Given the description of an element on the screen output the (x, y) to click on. 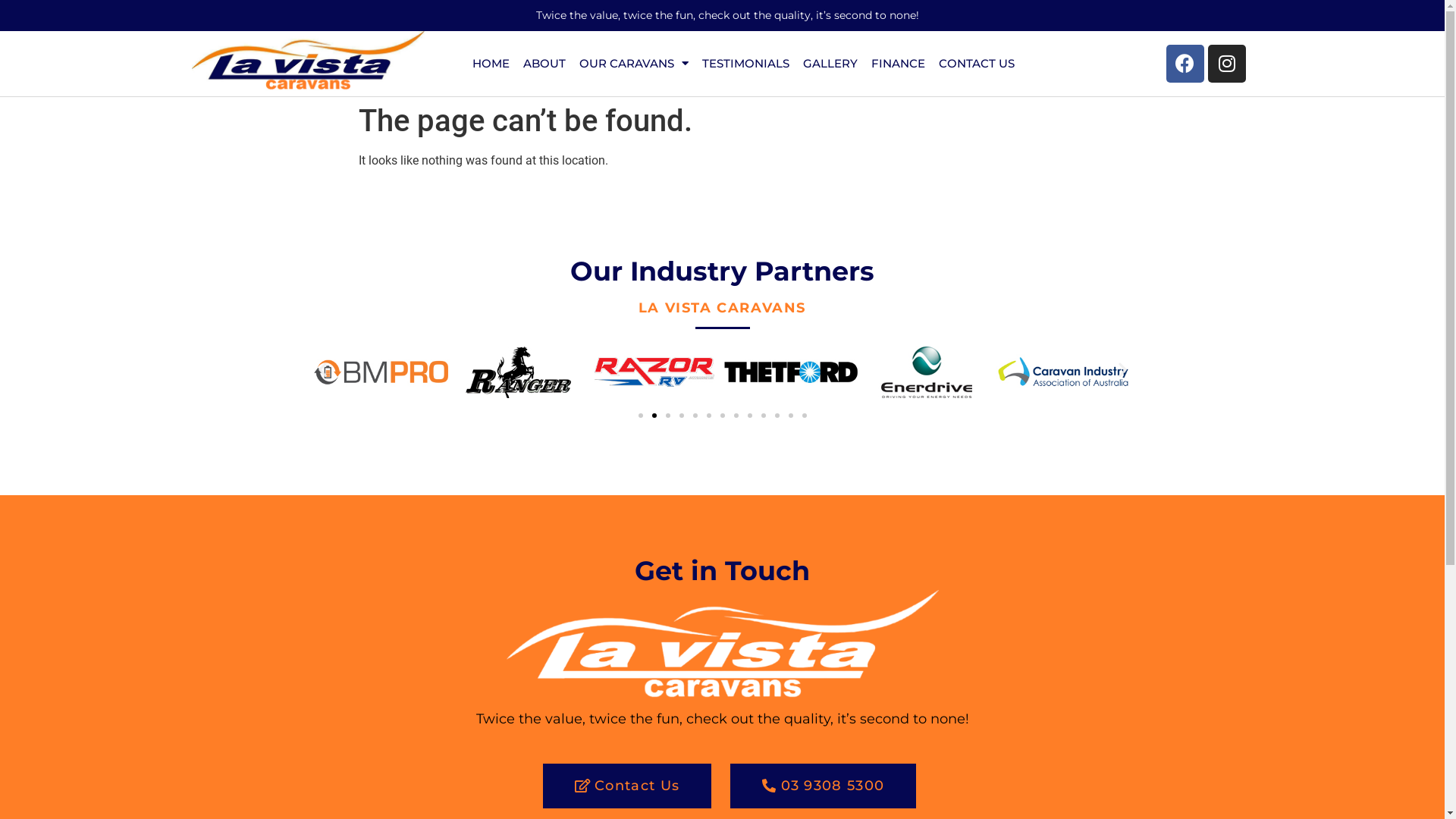
OUR CARAVANS Element type: text (633, 63)
Contact Us Element type: text (626, 785)
FINANCE Element type: text (897, 63)
GALLERY Element type: text (830, 63)
TESTIMONIALS Element type: text (745, 63)
HOME Element type: text (490, 63)
ABOUT Element type: text (544, 63)
03 9308 5300 Element type: text (823, 785)
CONTACT US Element type: text (976, 63)
